Given the description of an element on the screen output the (x, y) to click on. 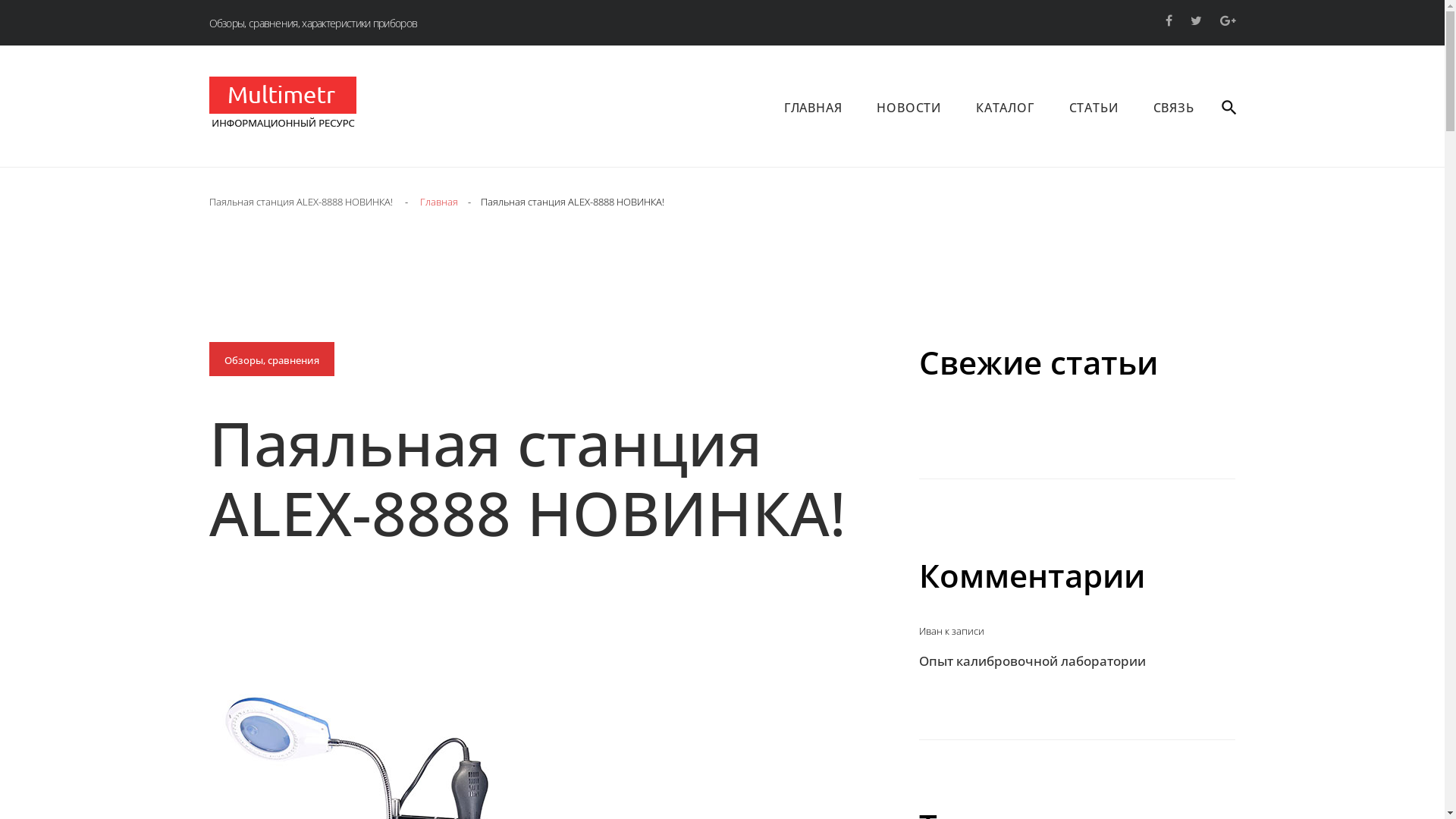
twitter Element type: text (1195, 20)
Skip to content Element type: text (0, 0)
google+ Element type: text (1227, 20)
facebook Element type: text (1167, 20)
